Given the description of an element on the screen output the (x, y) to click on. 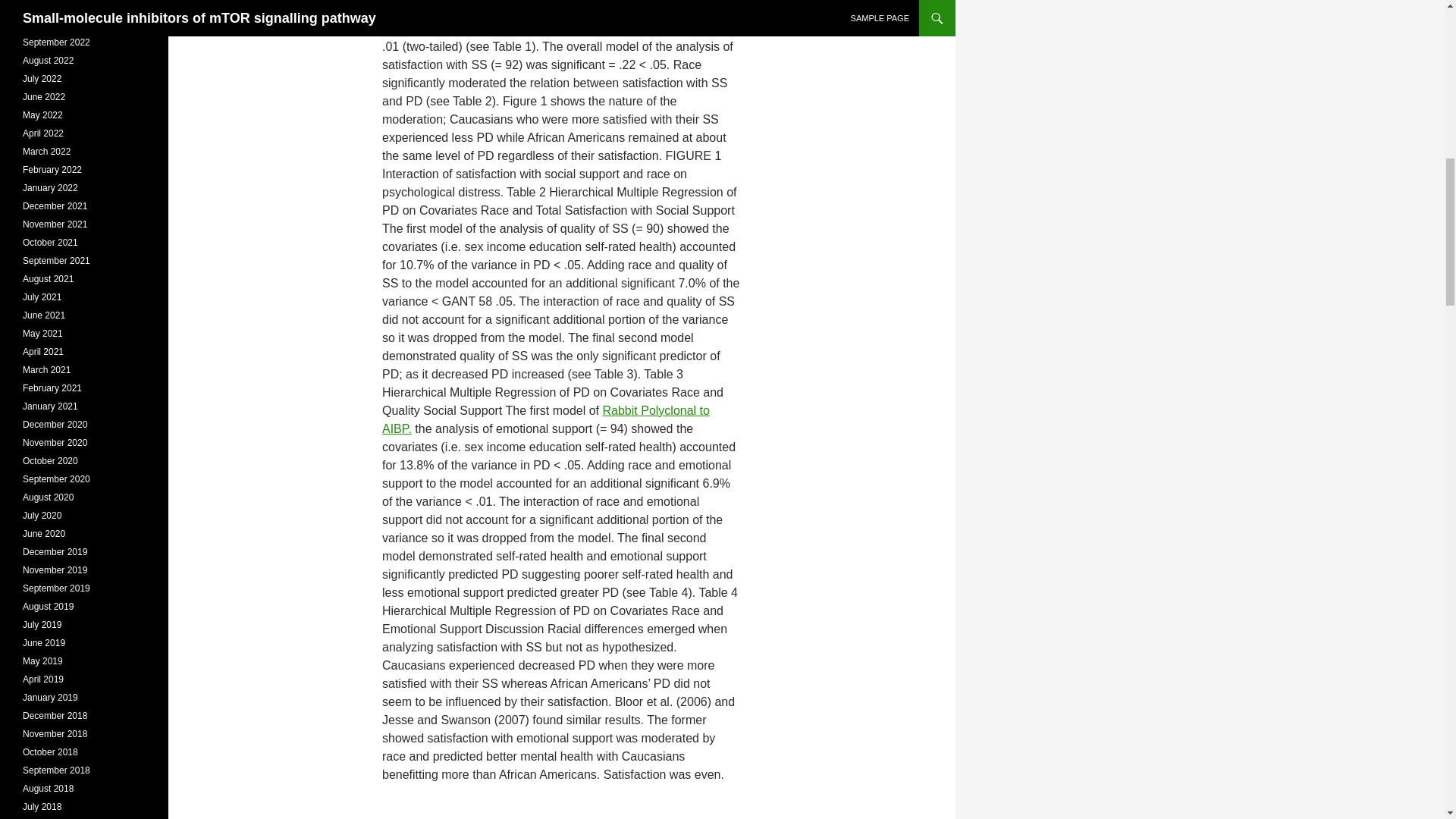
July 2022 (42, 78)
September 2022 (56, 41)
May 2022 (42, 114)
August 2022 (48, 60)
Rabbit Polyclonal to AIBP. (545, 419)
June 2022 (44, 96)
April 2022 (43, 132)
October 2022 (50, 23)
November 2022 (55, 5)
